Given the description of an element on the screen output the (x, y) to click on. 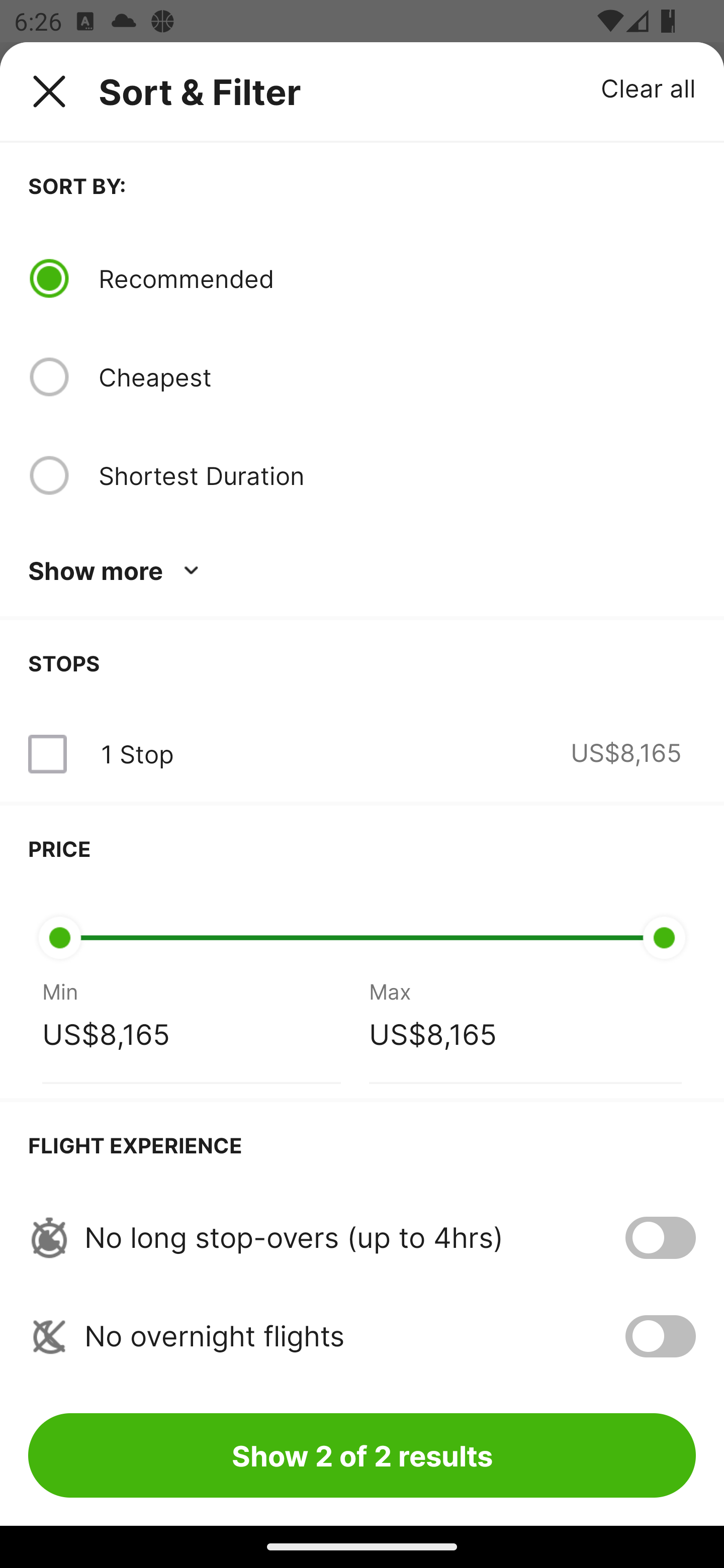
Clear all (648, 87)
Recommended  (396, 278)
Cheapest (396, 377)
Shortest Duration (396, 474)
Show more (116, 570)
1 Stop US$8,165 (362, 754)
1 Stop (136, 753)
Show 2 of 2 results (361, 1454)
